Given the description of an element on the screen output the (x, y) to click on. 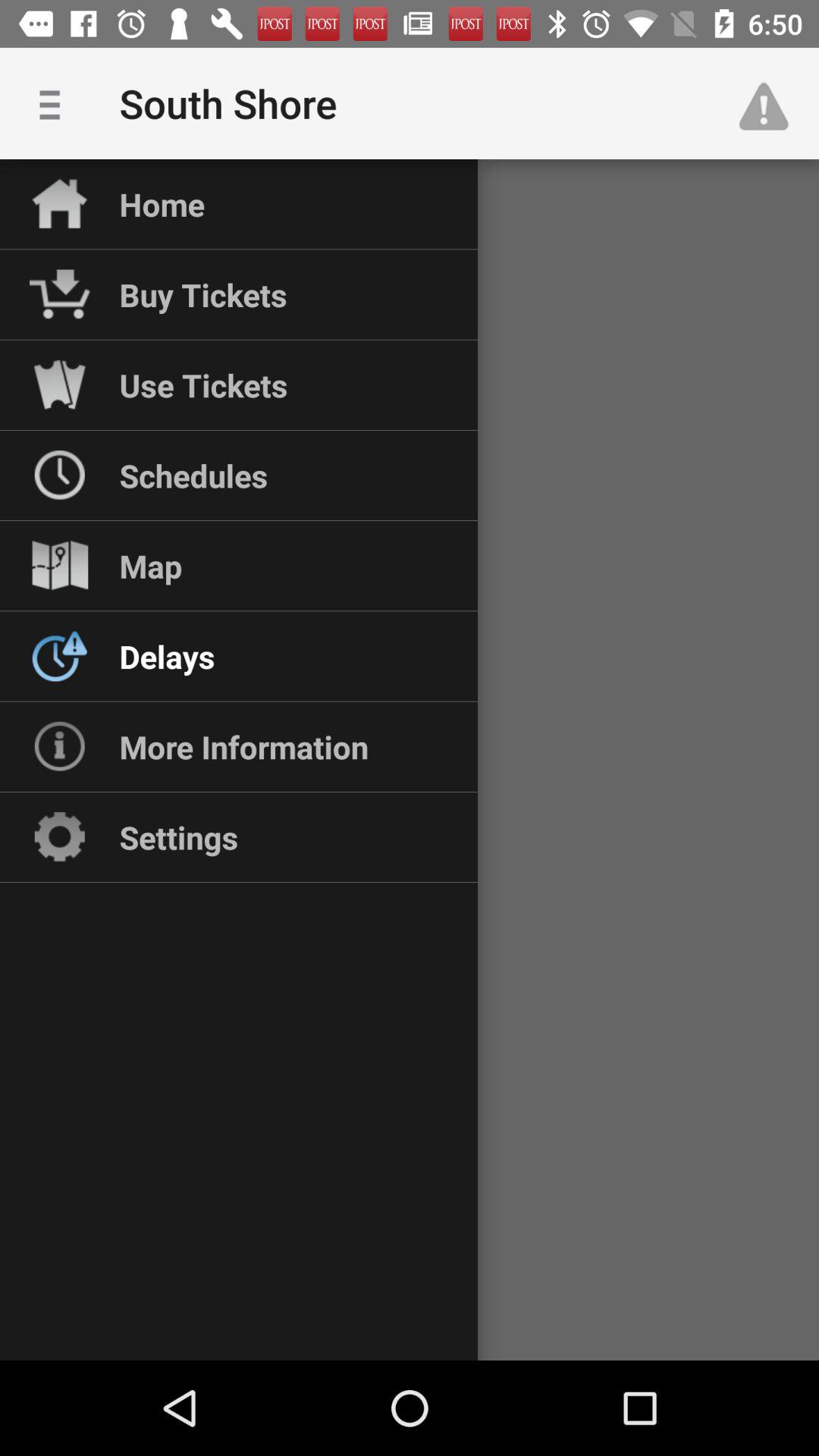
select the schedules (193, 475)
